Given the description of an element on the screen output the (x, y) to click on. 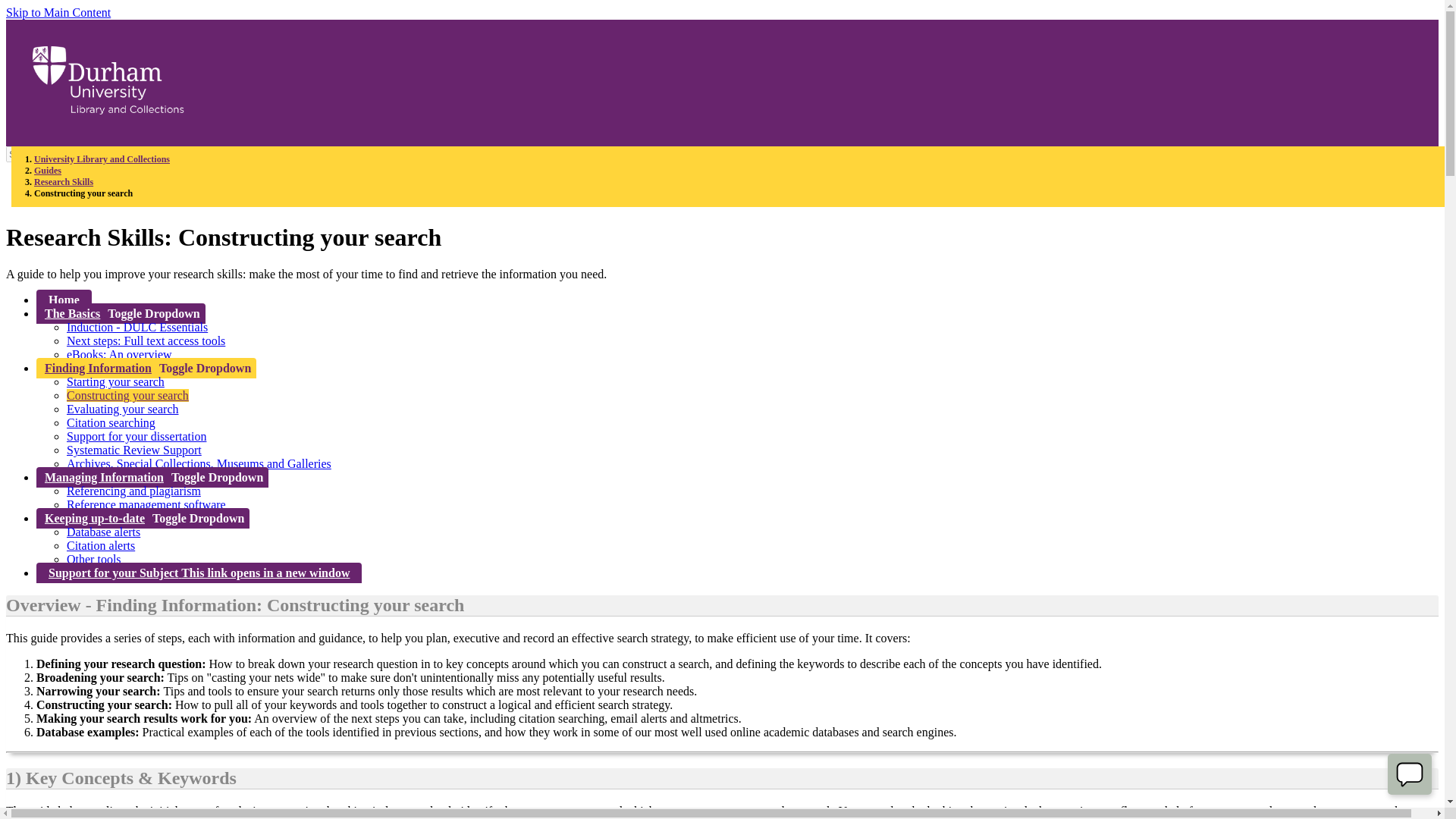
Induction - DULC Essentials (137, 327)
Next steps: Full text access tools (145, 340)
Search (251, 154)
Managing Information (102, 476)
Reference management software (145, 504)
Library home (108, 106)
Toggle Dropdown (217, 476)
eBooks: An overview (118, 354)
Keeping up-to-date (92, 517)
Toggle Dropdown (154, 313)
Systematic Review Support (134, 449)
Constructing your search (127, 395)
Guides (47, 170)
University Library and Collections (101, 158)
Support for your dissertation (136, 436)
